Given the description of an element on the screen output the (x, y) to click on. 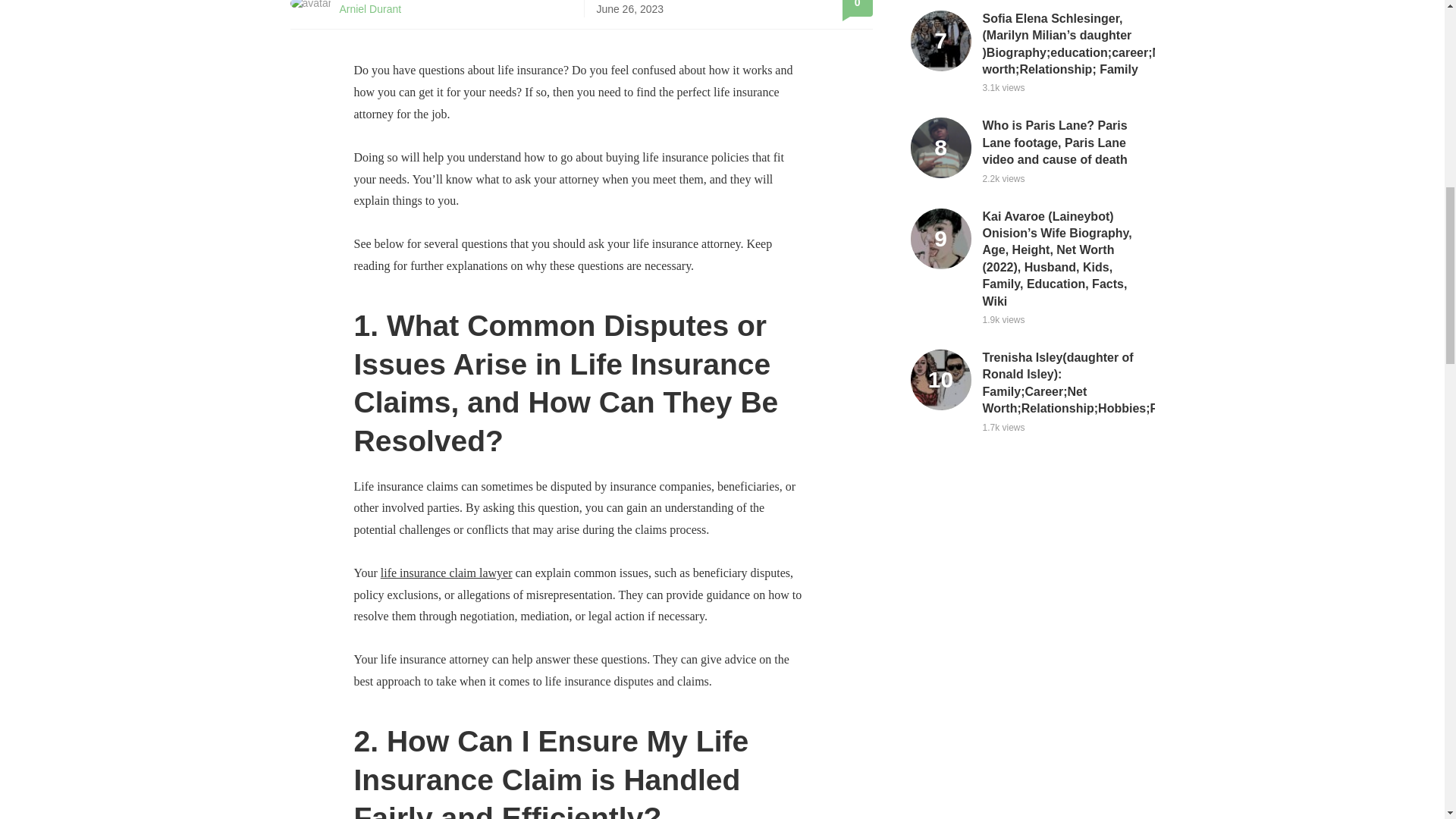
Posts by Arniel Durant (370, 9)
